Given the description of an element on the screen output the (x, y) to click on. 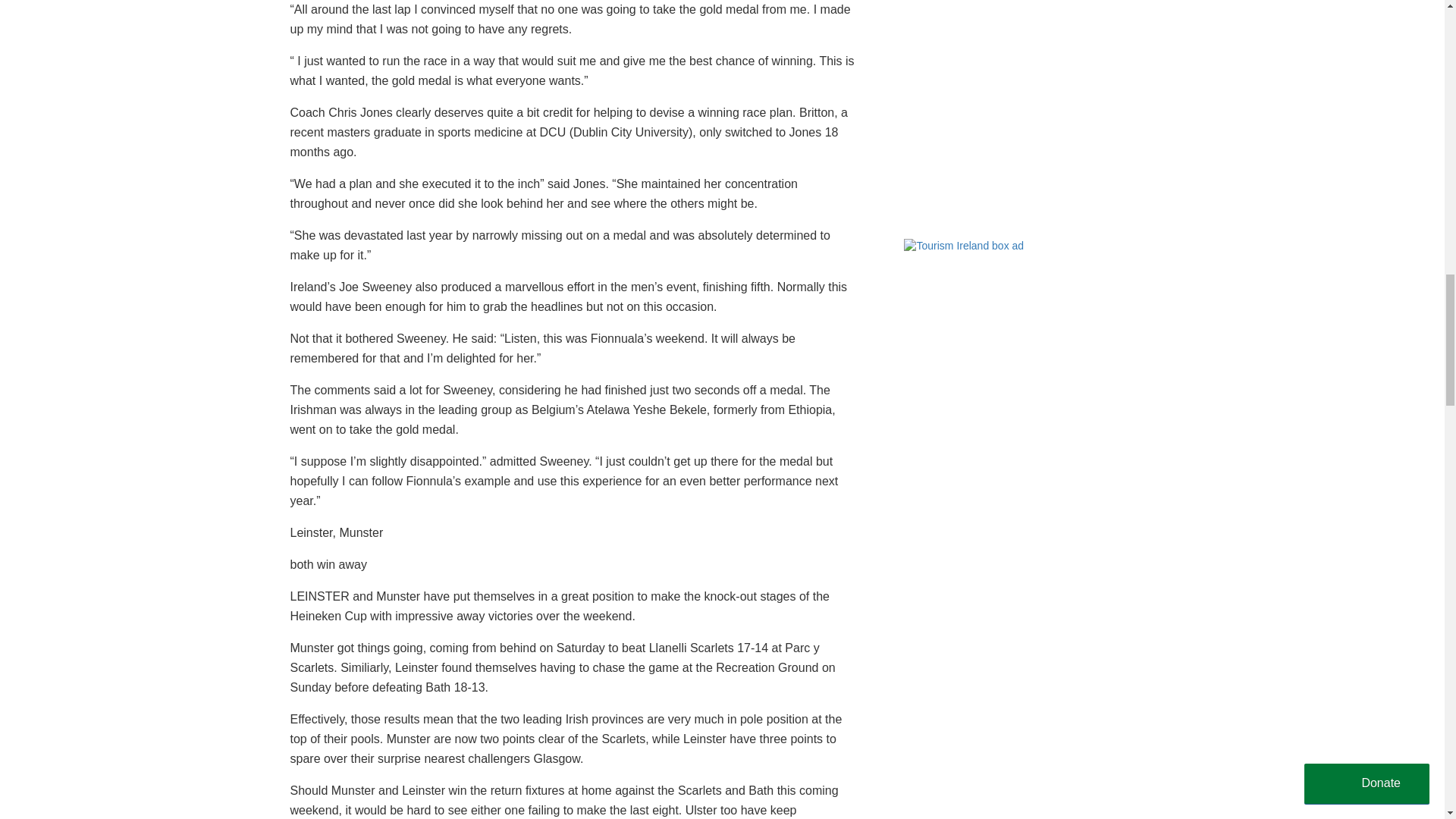
ti (1017, 333)
cronin Tours  (1017, 113)
